Given the description of an element on the screen output the (x, y) to click on. 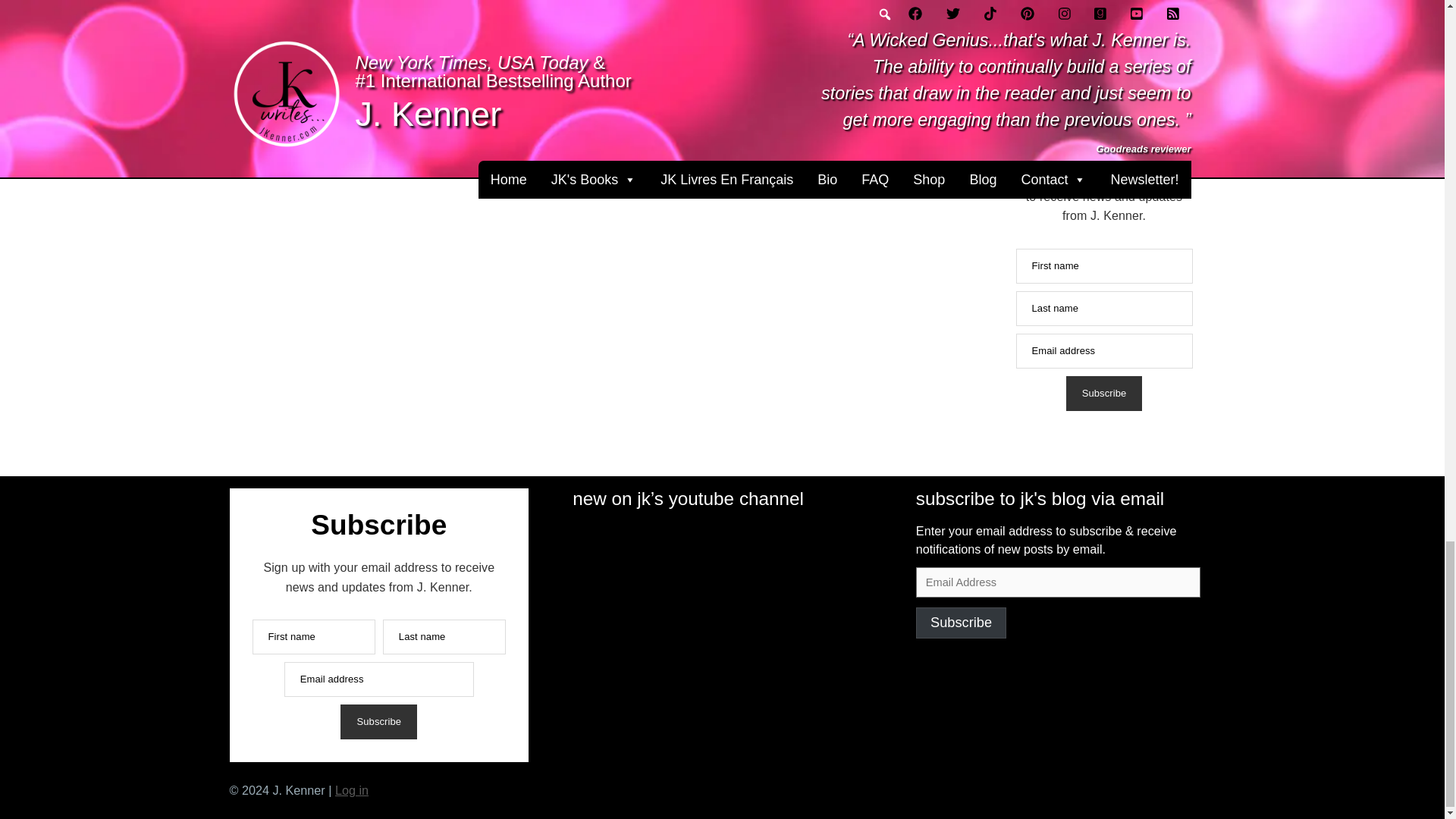
Submit (1020, 6)
